Given the description of an element on the screen output the (x, y) to click on. 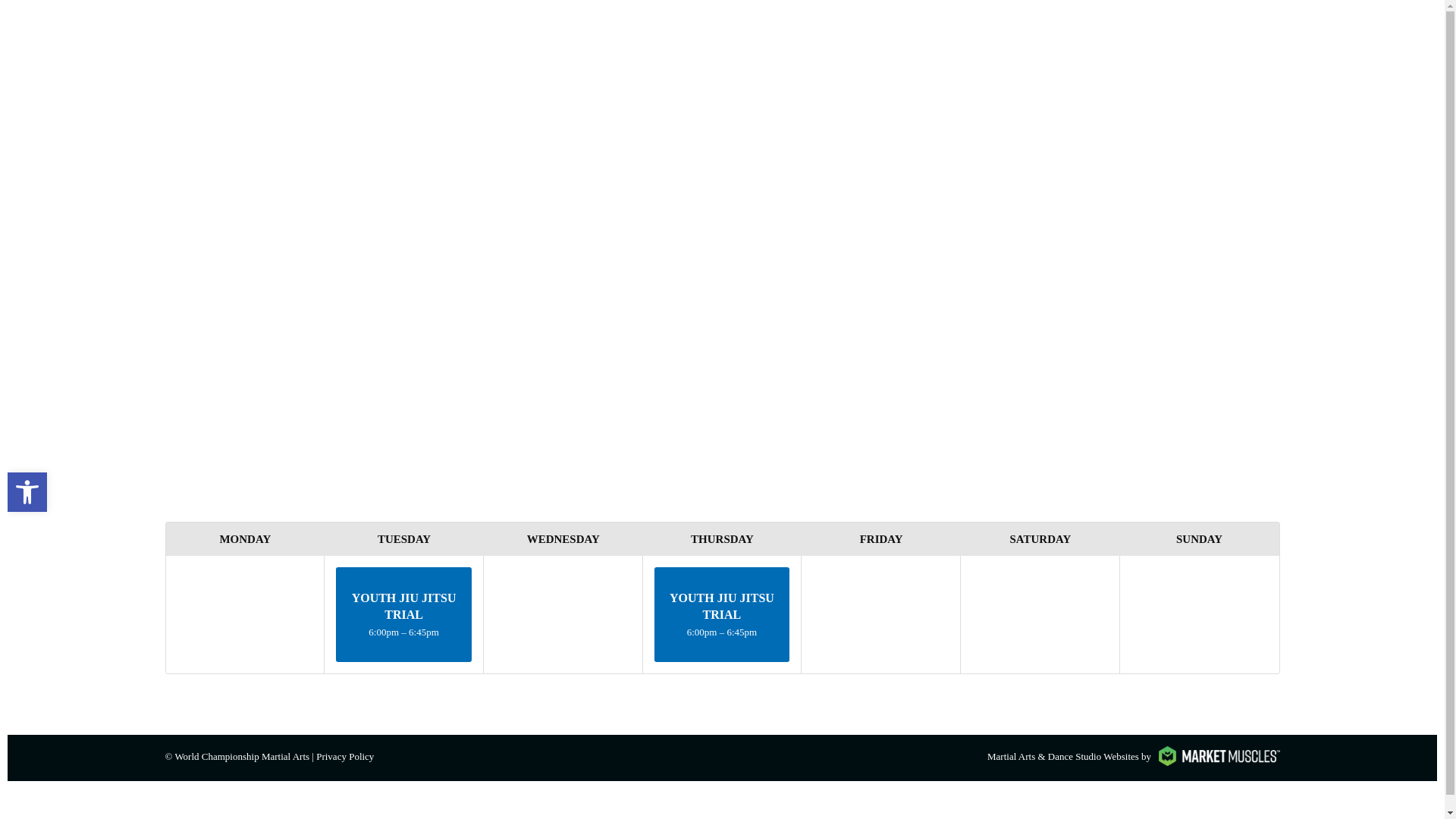
Privacy Policy (344, 756)
Open toolbar (26, 491)
Accessibility Tools (26, 491)
